Given the description of an element on the screen output the (x, y) to click on. 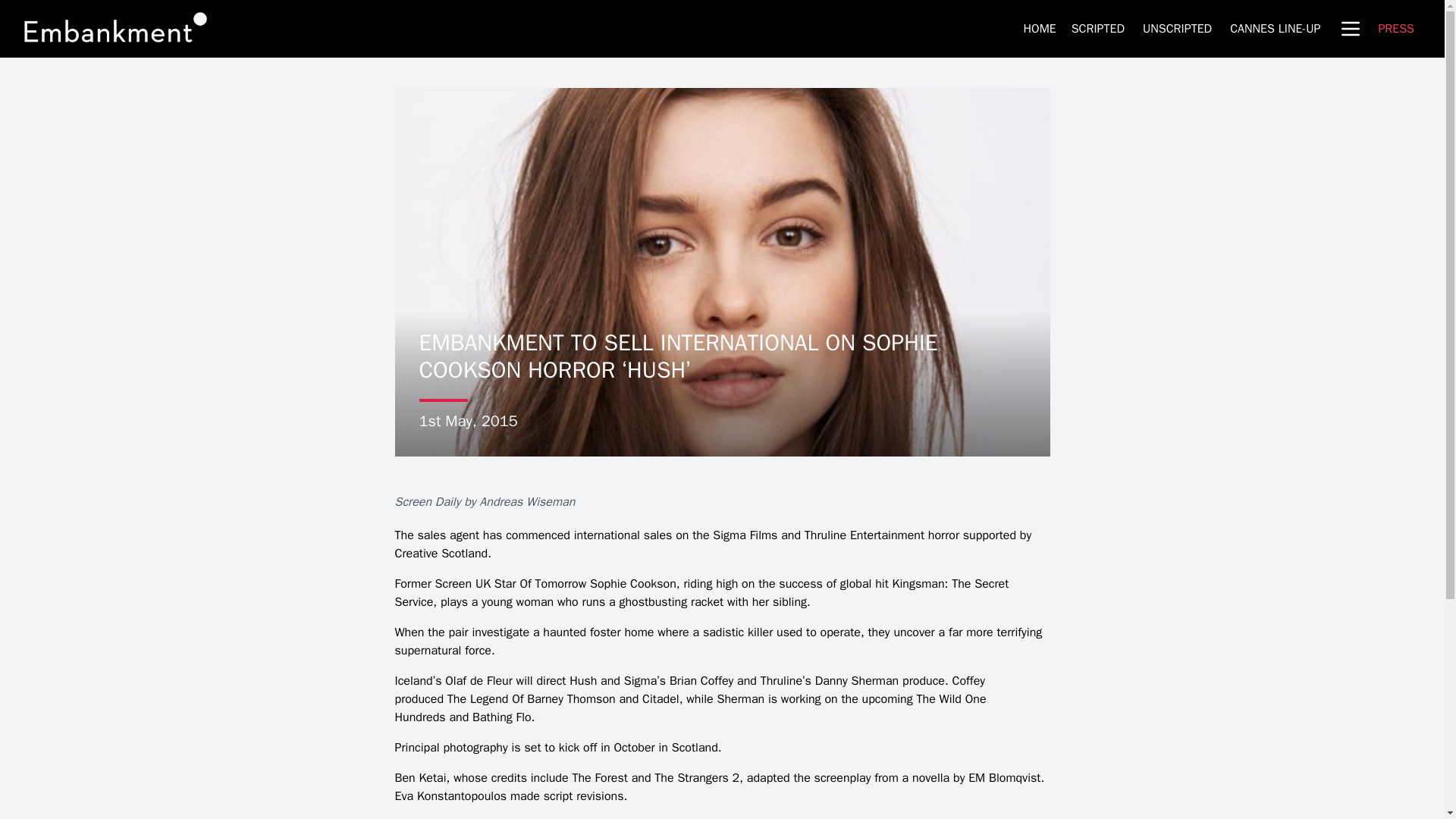
PRESS (1395, 28)
HOME (1040, 28)
UNSCRIPTED (1176, 28)
CANNES LINE-UP (1275, 28)
SCRIPTED (1097, 28)
